Given the description of an element on the screen output the (x, y) to click on. 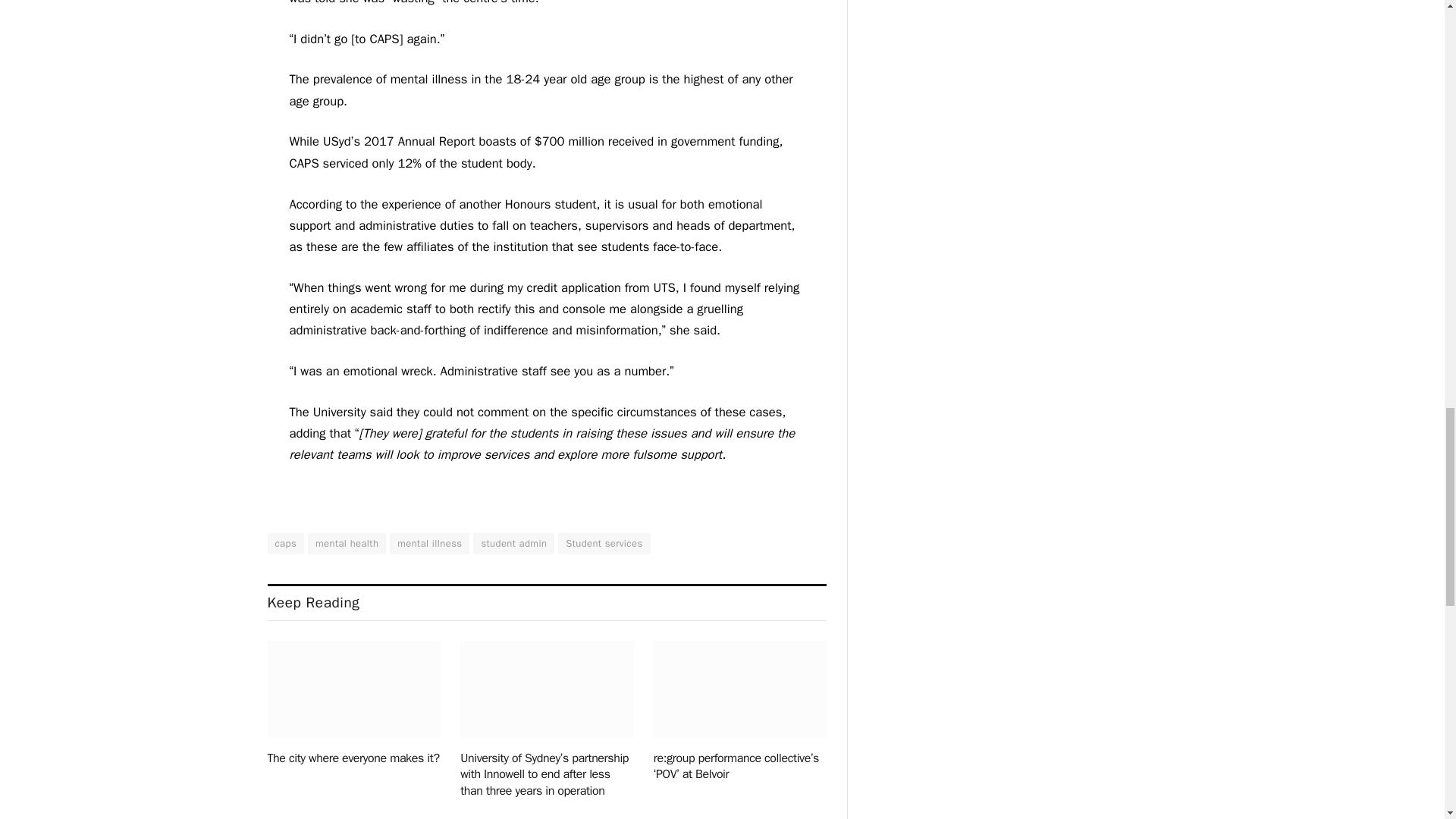
The city where everyone makes it? (353, 689)
